Given the description of an element on the screen output the (x, y) to click on. 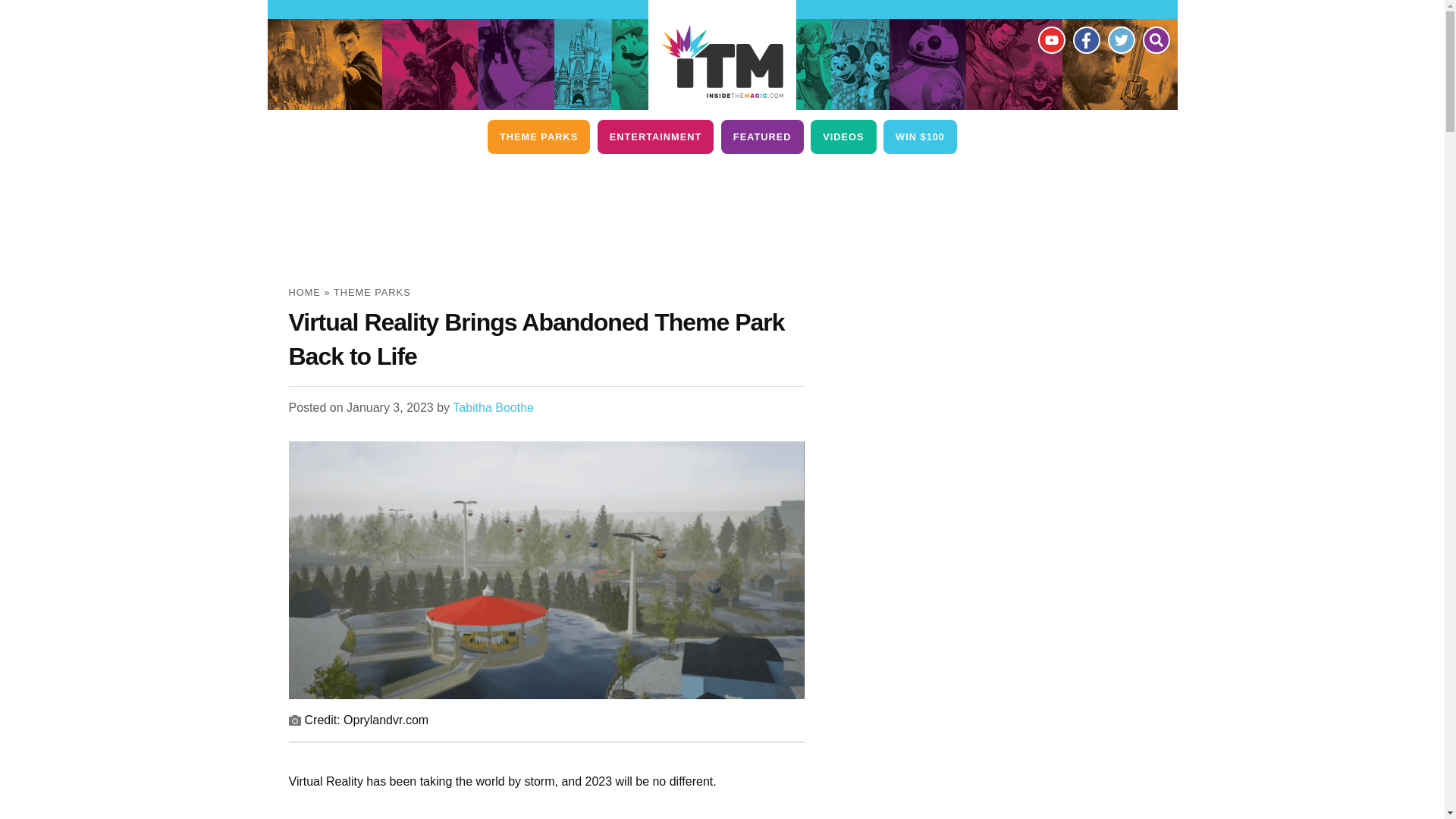
Twitter (1120, 40)
ENTERTAINMENT (655, 136)
YouTube (1050, 40)
FEATURED (761, 136)
Search (1155, 40)
Facebook (1085, 40)
THEME PARKS (538, 136)
